Given the description of an element on the screen output the (x, y) to click on. 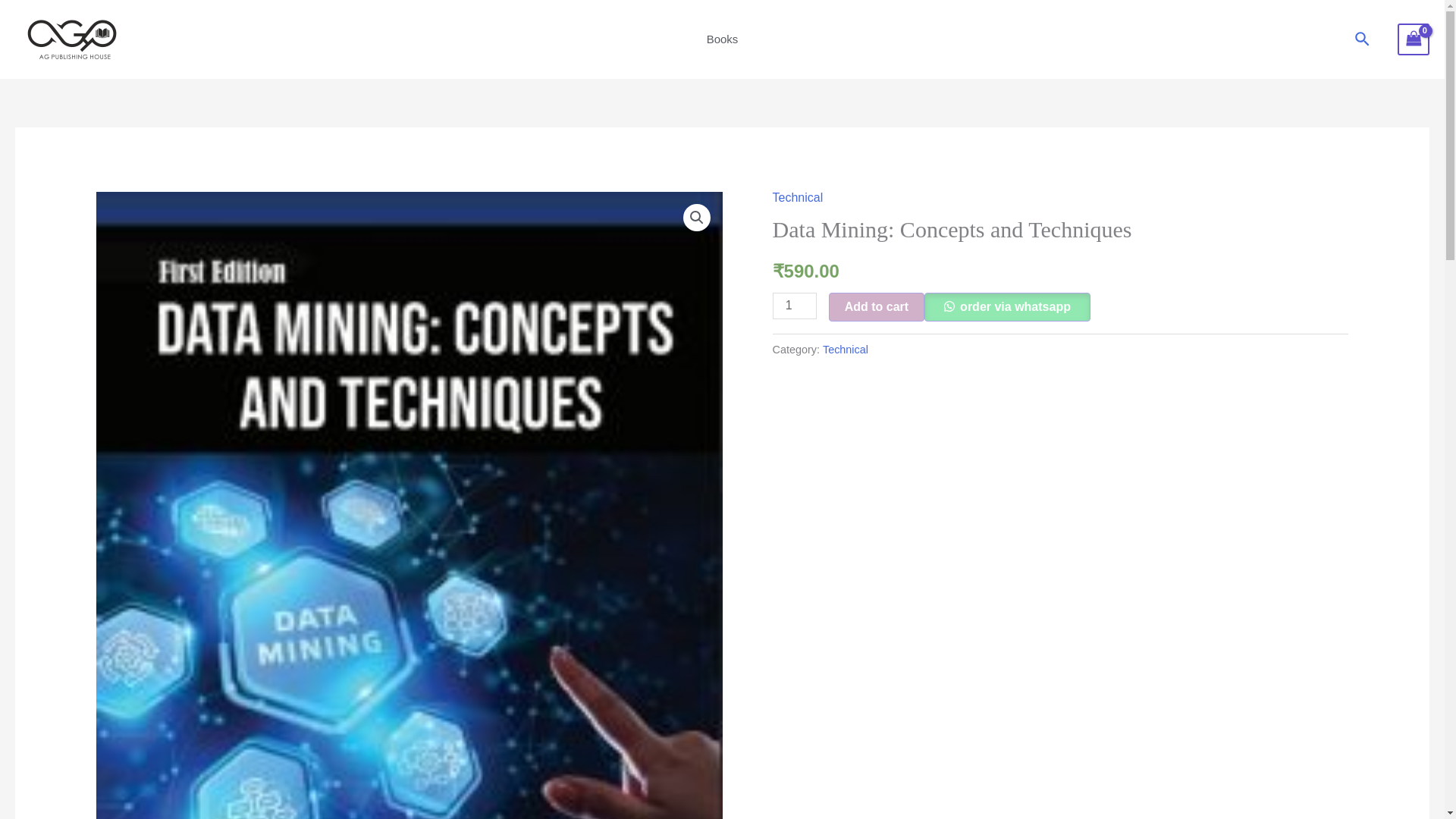
Qty (794, 305)
order via whatsapp (1007, 306)
Technical (844, 349)
Technical (798, 196)
1 (794, 305)
Add to cart (876, 306)
